Given the description of an element on the screen output the (x, y) to click on. 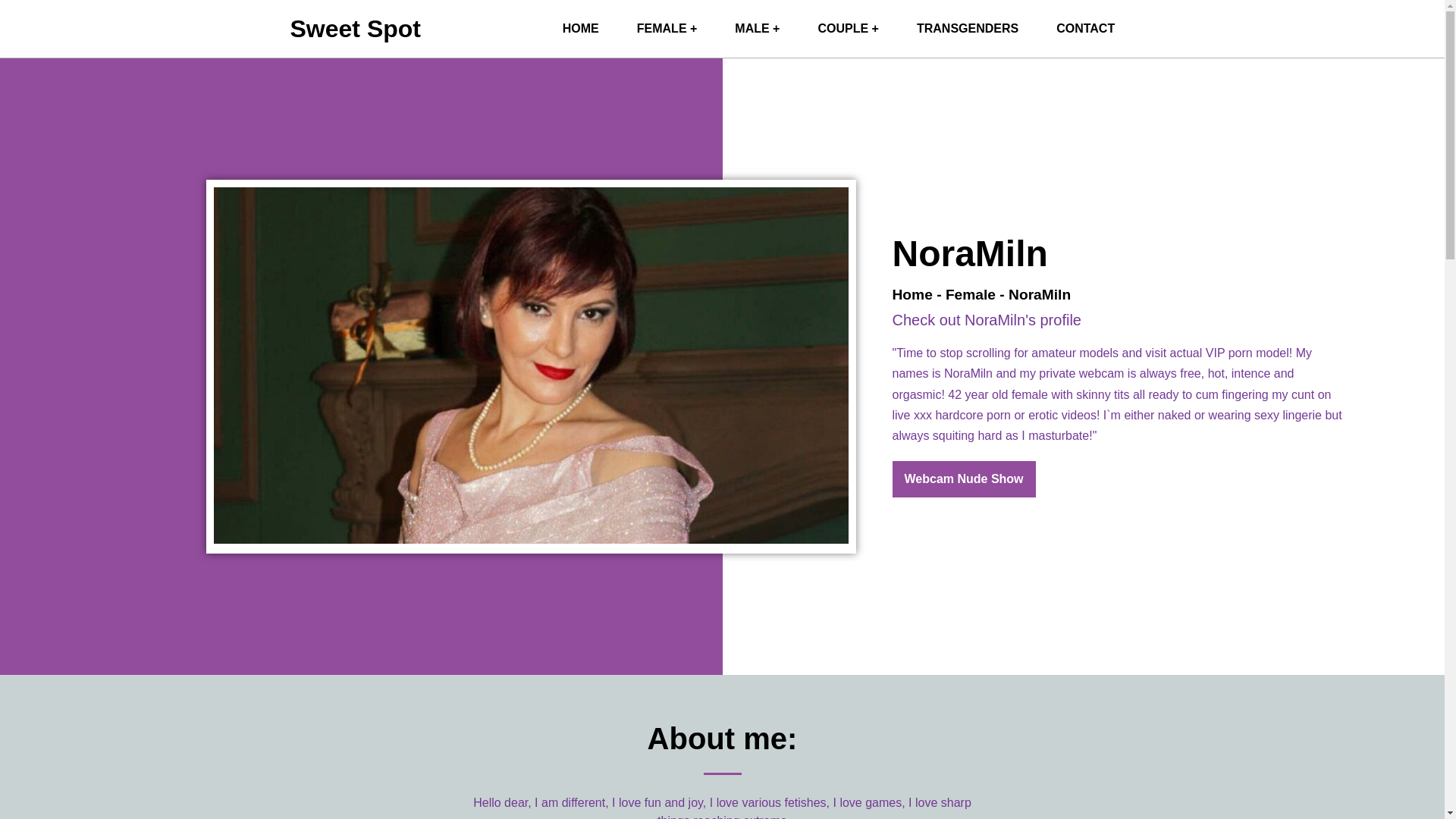
Sweet Spot (354, 28)
Female (969, 294)
Contact (1086, 28)
Home (911, 294)
TRANSGENDERS (967, 28)
Sweet Spot (354, 28)
Transgenders (967, 28)
HOME (580, 28)
Sweet Spot (580, 28)
Webcam Nude Show (963, 479)
CONTACT (1086, 28)
